Given the description of an element on the screen output the (x, y) to click on. 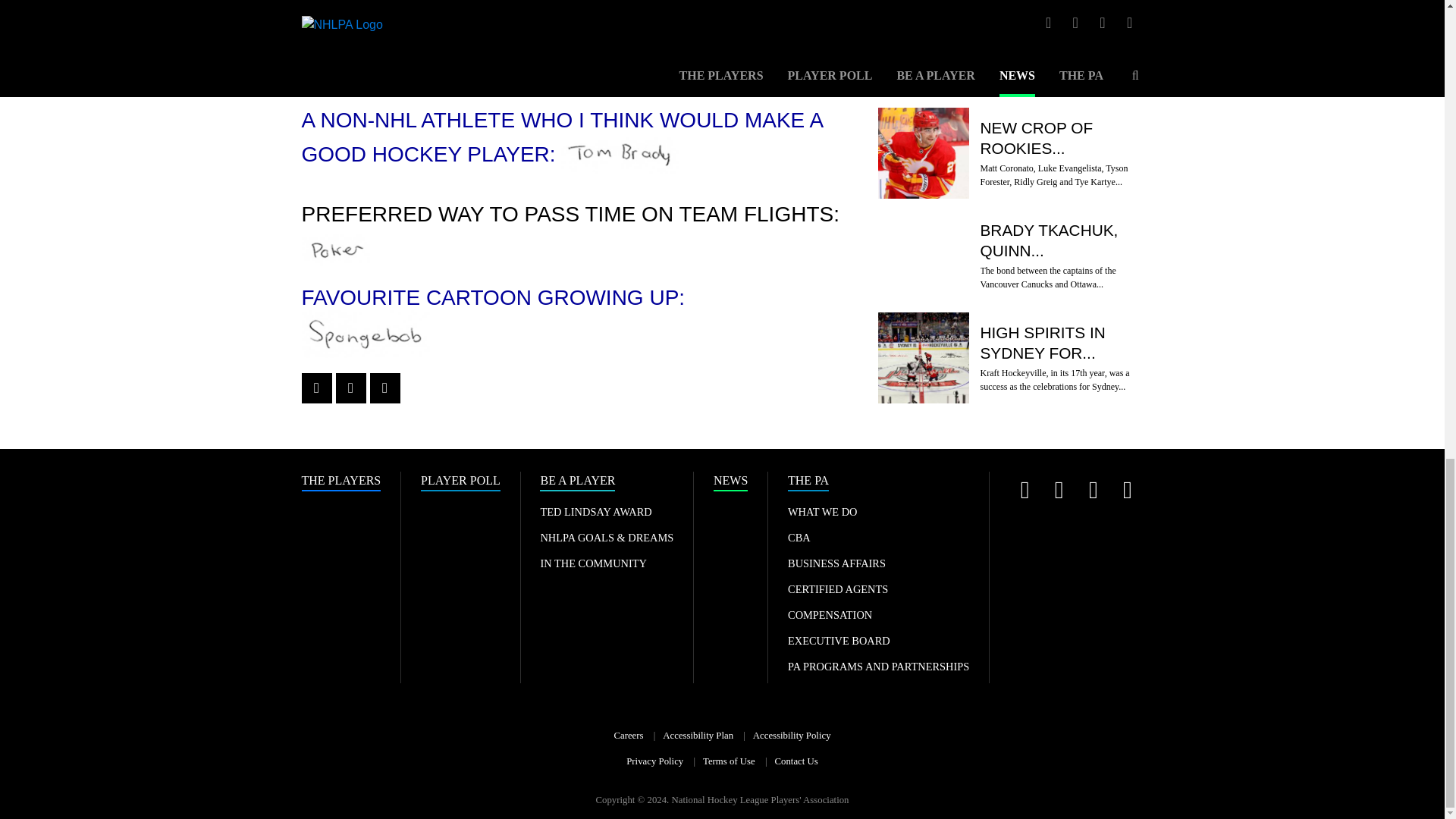
THE PA (807, 481)
Share to LinkedIn (384, 388)
CBA (798, 537)
Twitter (1025, 489)
PLAYER POLL (460, 481)
THE PLAYERS (341, 481)
WHAT WE DO (822, 511)
Share to Twitter (349, 388)
CERTIFIED AGENTS (837, 589)
TED LINDSAY AWARD (595, 511)
NEWS (730, 481)
Share to Facebook (316, 388)
YouTube (1092, 489)
IN THE COMMUNITY (593, 563)
Facebook (1127, 489)
